Given the description of an element on the screen output the (x, y) to click on. 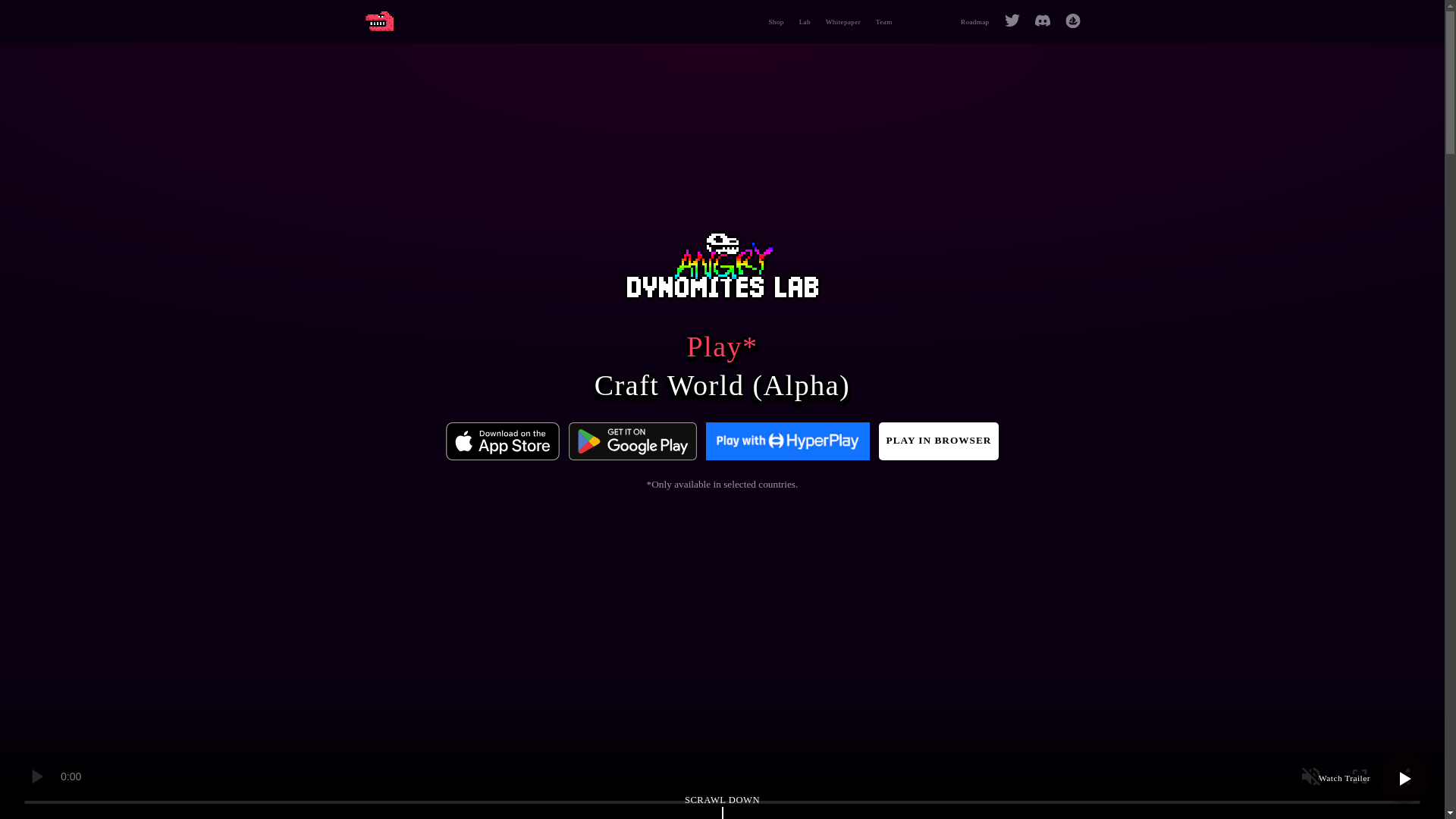
PLAY IN BROWSER (938, 441)
Shop (775, 21)
Team (884, 21)
Whitepaper (842, 21)
Roadmap (974, 21)
Lab (804, 21)
Hall of fame (925, 21)
